Given the description of an element on the screen output the (x, y) to click on. 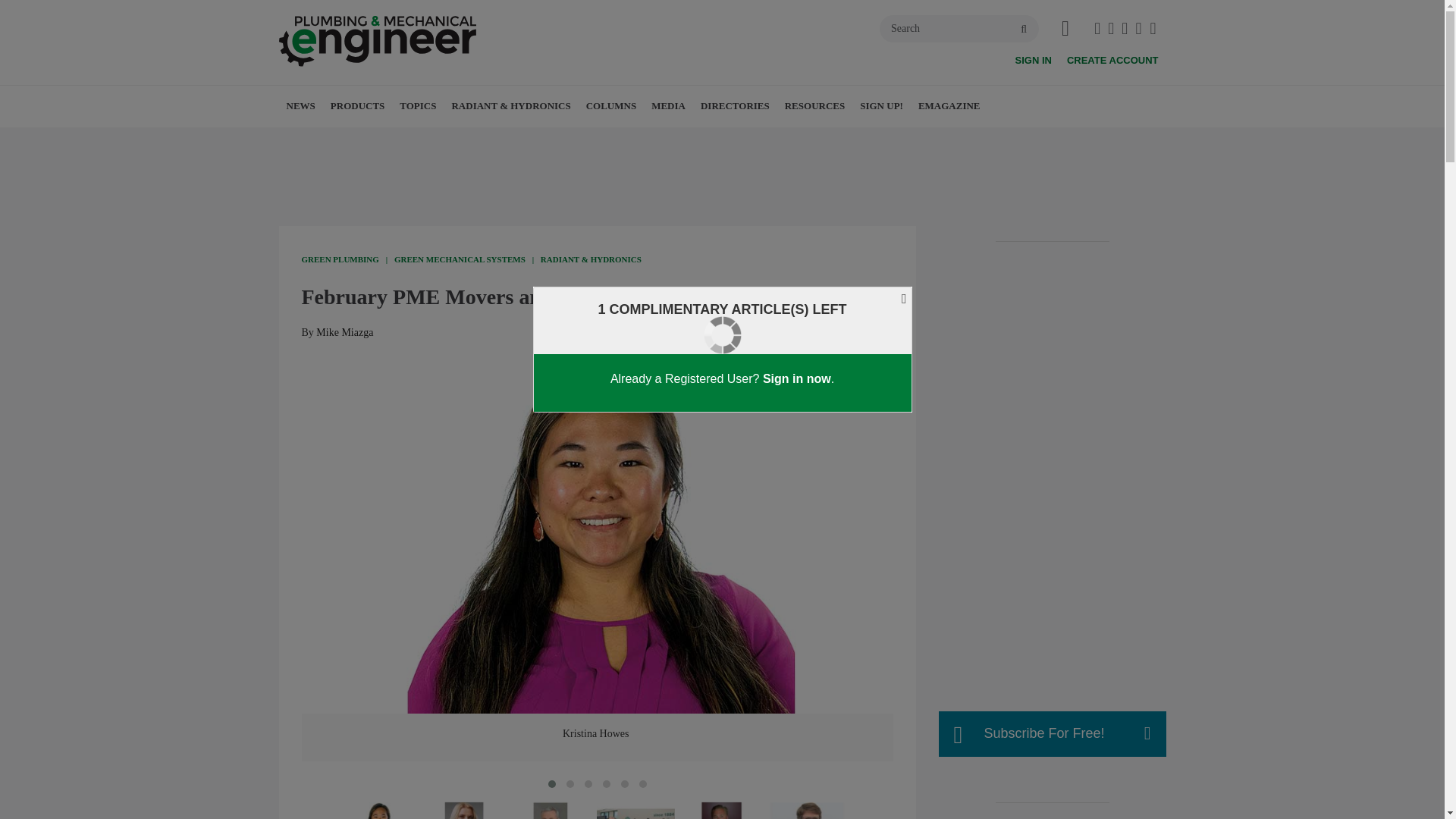
Search (959, 28)
Search (959, 28)
